Given the description of an element on the screen output the (x, y) to click on. 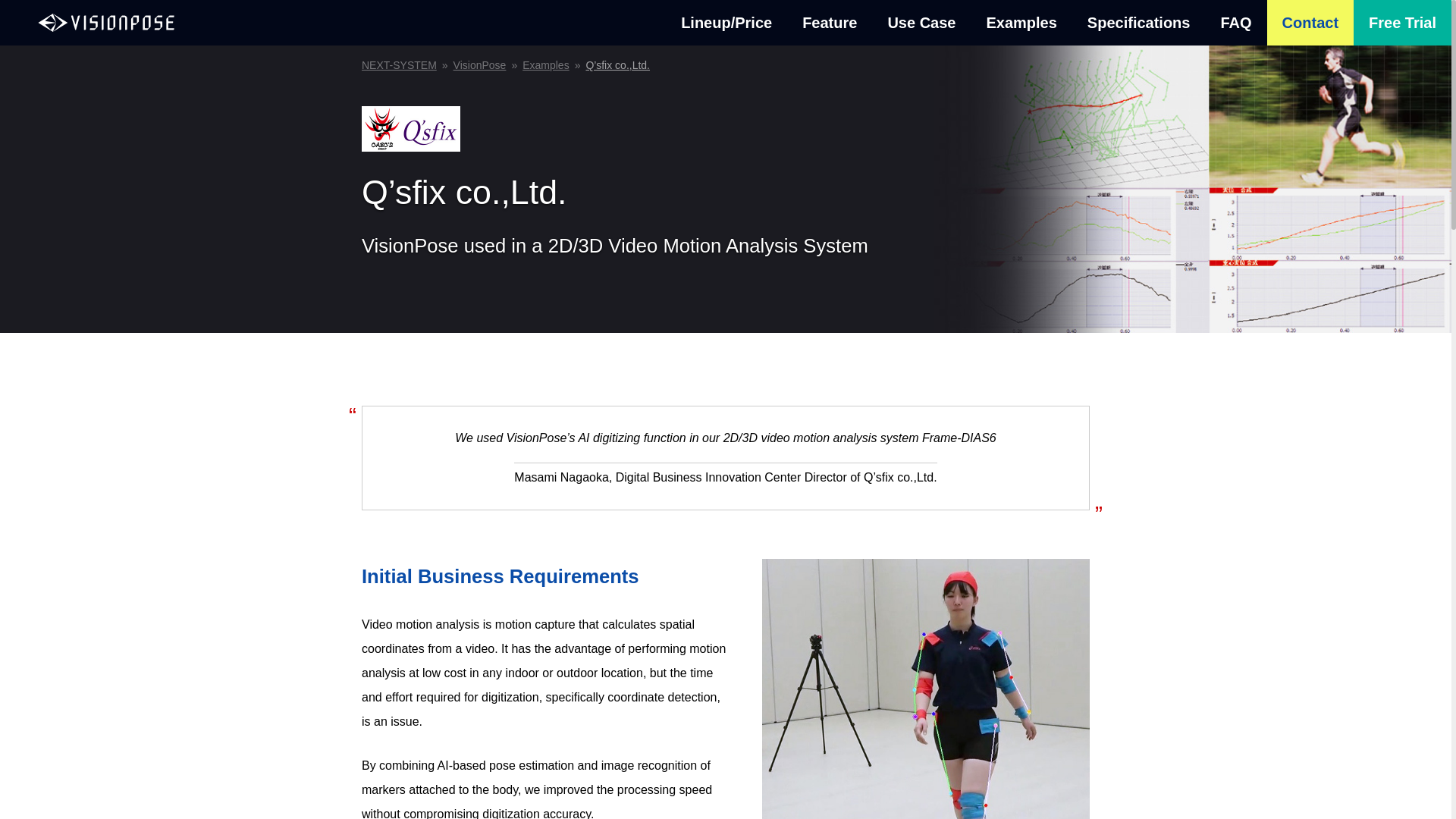
VisionPose (479, 64)
Feature (829, 22)
Contact (1310, 22)
VisionPose (105, 22)
Examples (545, 64)
FAQ (1235, 22)
Use Case (921, 22)
Specifications (1138, 22)
Examples (1021, 22)
NEXT-SYSTEM (398, 64)
